Given the description of an element on the screen output the (x, y) to click on. 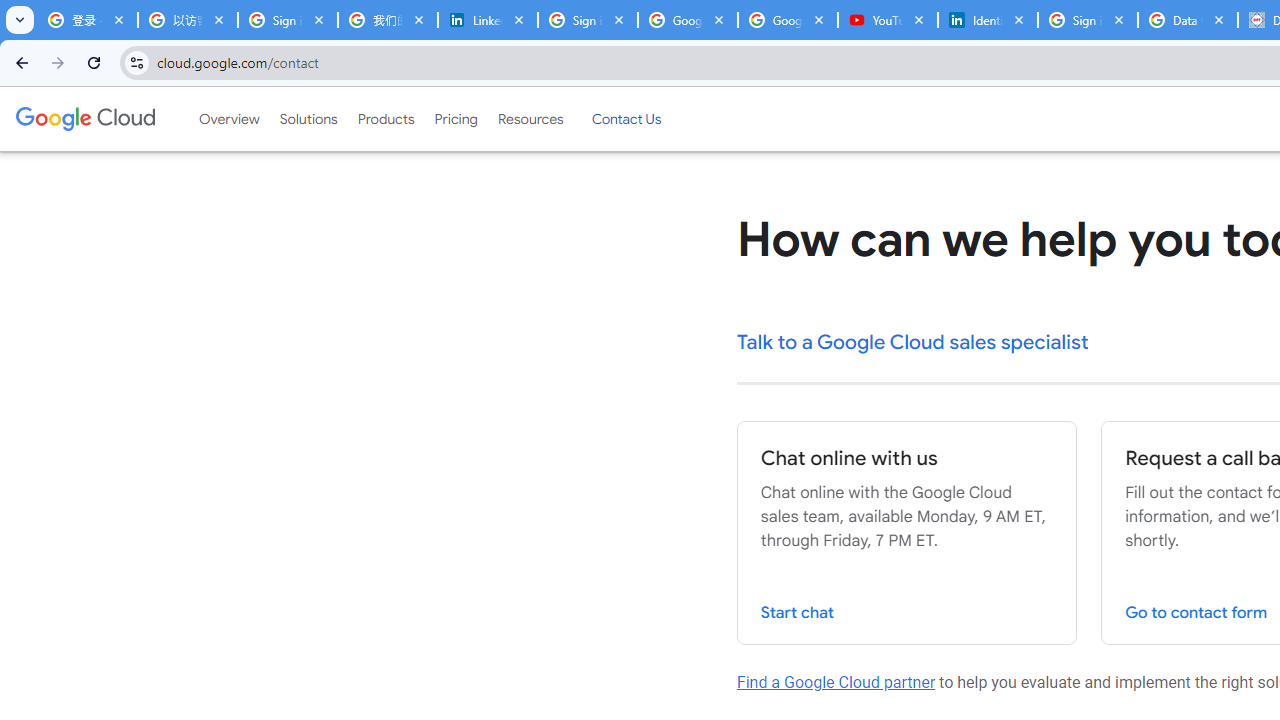
Pricing (455, 119)
Back (19, 62)
View site information (136, 62)
Close (1218, 19)
Solutions (308, 119)
Sign in - Google Accounts (287, 20)
LinkedIn Privacy Policy (487, 20)
Overview (228, 119)
Contact Us (626, 119)
Find a Google Cloud partner (835, 682)
